Given the description of an element on the screen output the (x, y) to click on. 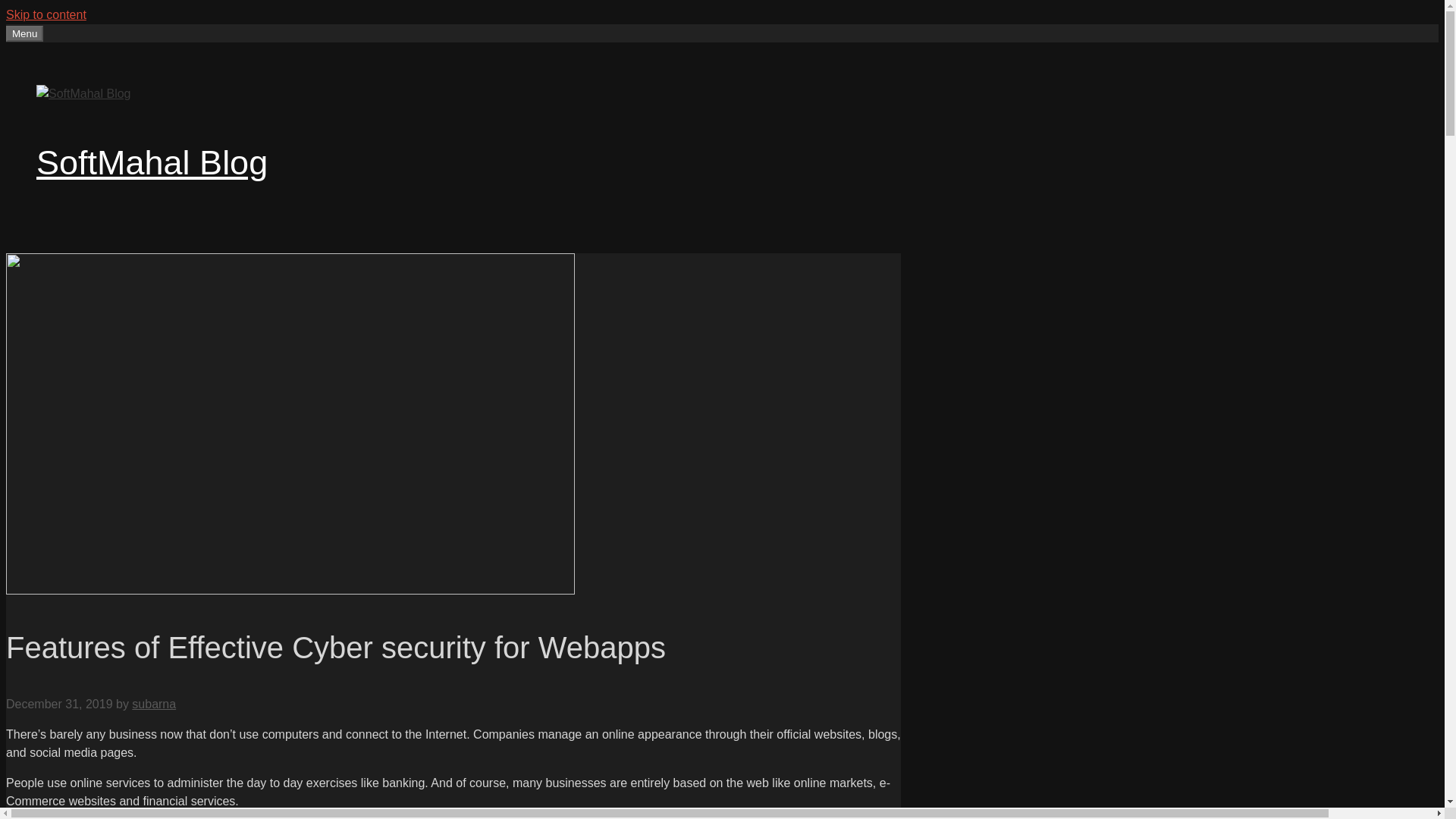
Menu (24, 33)
View all posts by subarna (154, 703)
SoftMahal Blog (151, 162)
subarna (154, 703)
Skip to content (45, 14)
Skip to content (45, 14)
